Given the description of an element on the screen output the (x, y) to click on. 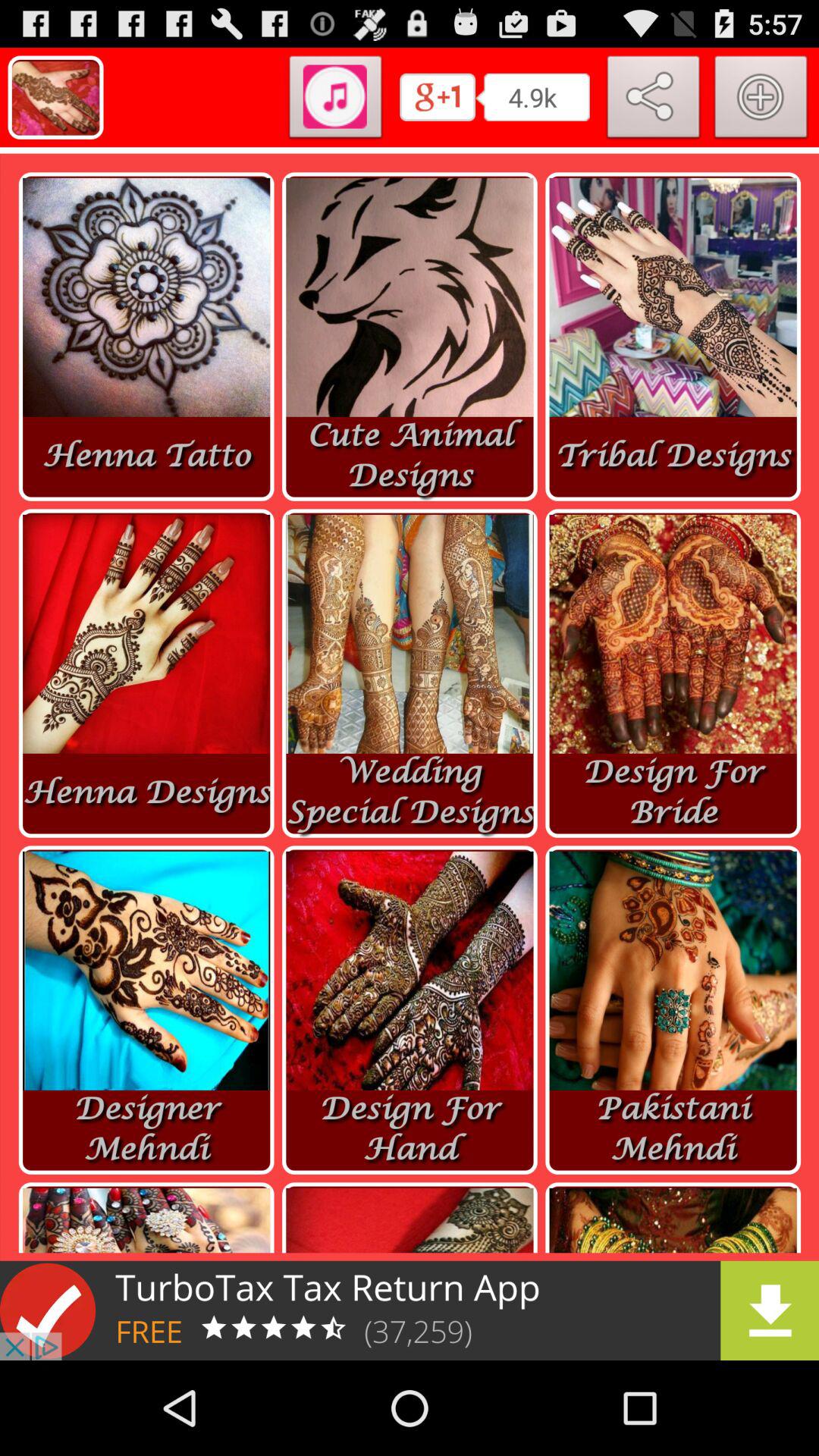
share button (653, 100)
